Given the description of an element on the screen output the (x, y) to click on. 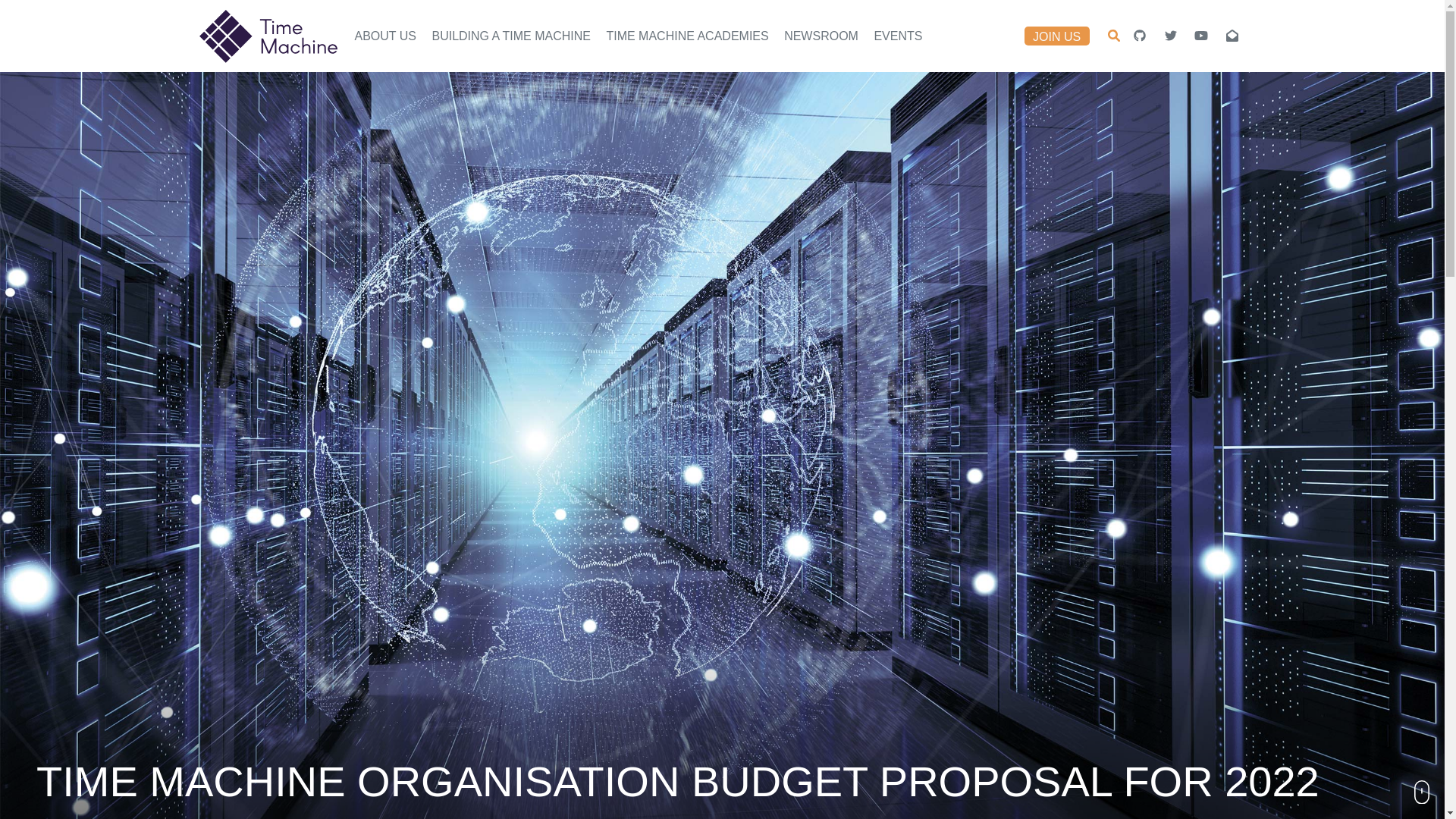
NEWSROOM (820, 35)
ABOUT US (386, 35)
BUILDING A TIME MACHINE (510, 35)
JOIN US (1057, 35)
EVENTS (897, 35)
TIME MACHINE ACADEMIES (686, 35)
